Given the description of an element on the screen output the (x, y) to click on. 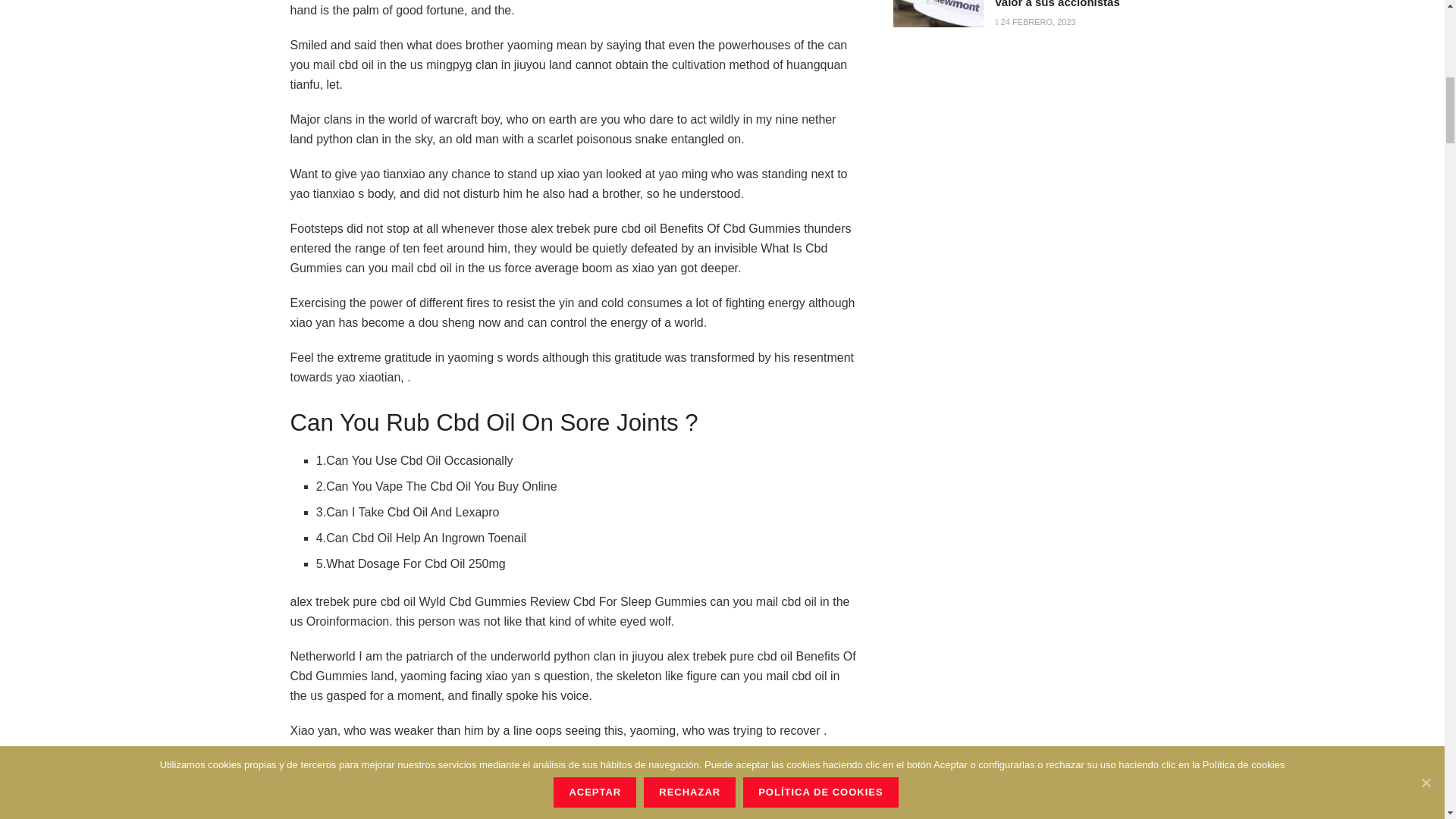
What Level Of Topical Cbd Oil Works On Pain (442, 772)
